Given the description of an element on the screen output the (x, y) to click on. 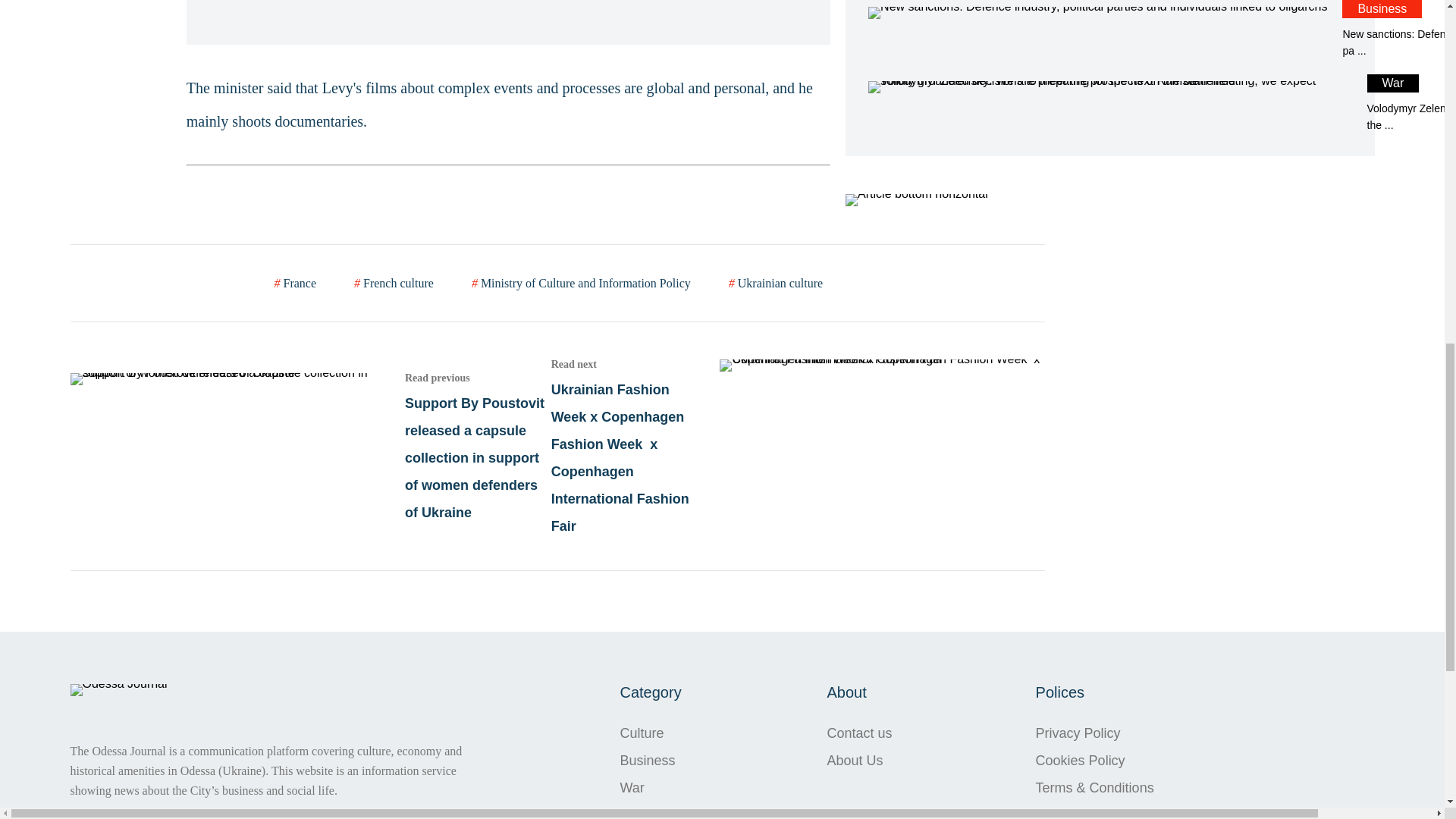
Read (1109, 29)
Contact us (859, 732)
Culture (652, 732)
Ukrainian culture (775, 283)
Read (309, 446)
War (652, 787)
About Us (859, 759)
Diplomacy (652, 810)
France (296, 283)
Business (652, 759)
Ministry of Culture and Information Policy (1109, 103)
